Given the description of an element on the screen output the (x, y) to click on. 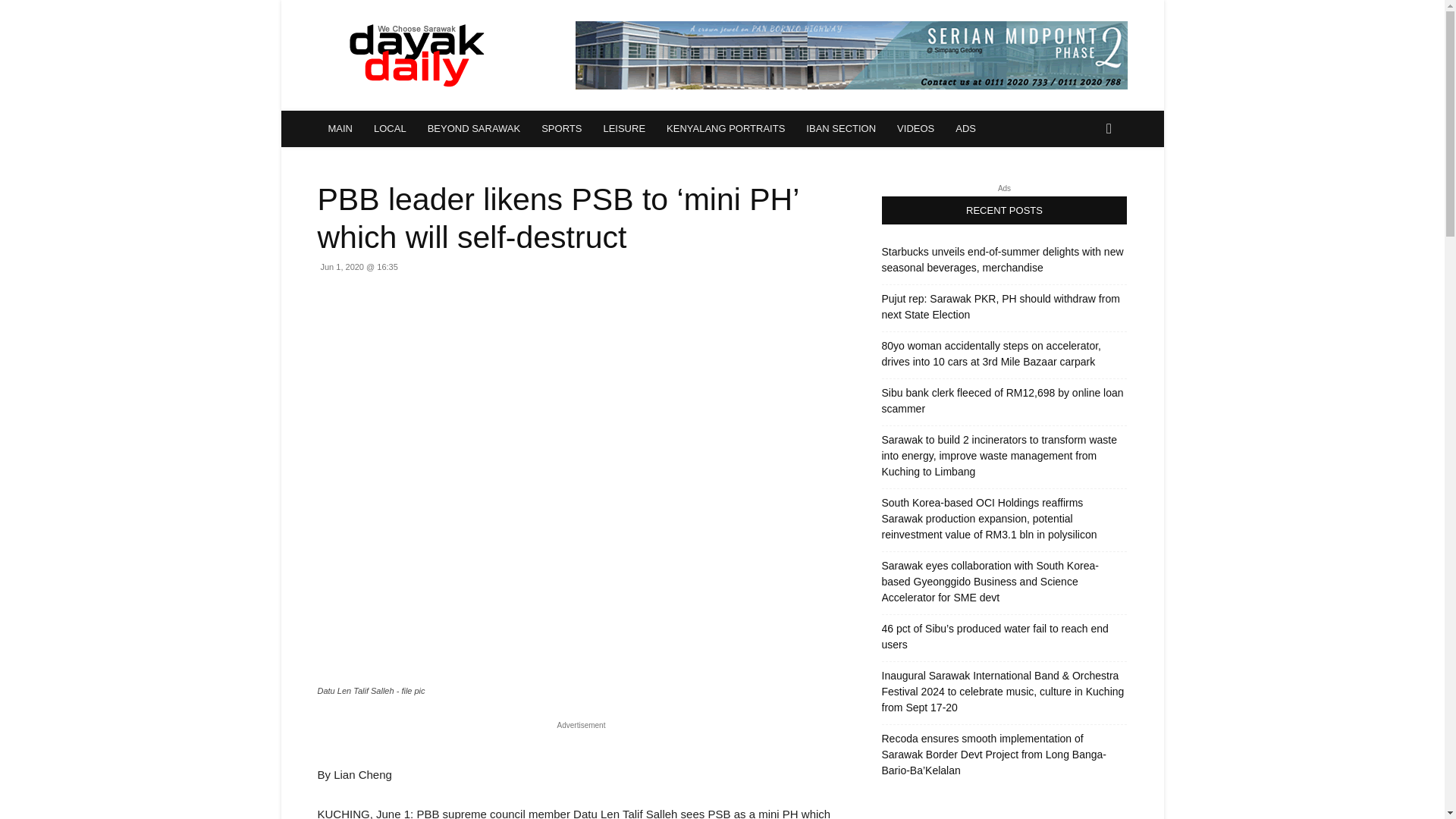
Search (1085, 189)
LOCAL (389, 128)
LEISURE (624, 128)
ADS (965, 128)
VIDEOS (915, 128)
IBAN SECTION (840, 128)
BEYOND SARAWAK (473, 128)
KENYALANG PORTRAITS (725, 128)
MAIN (339, 128)
SPORTS (561, 128)
